Given the description of an element on the screen output the (x, y) to click on. 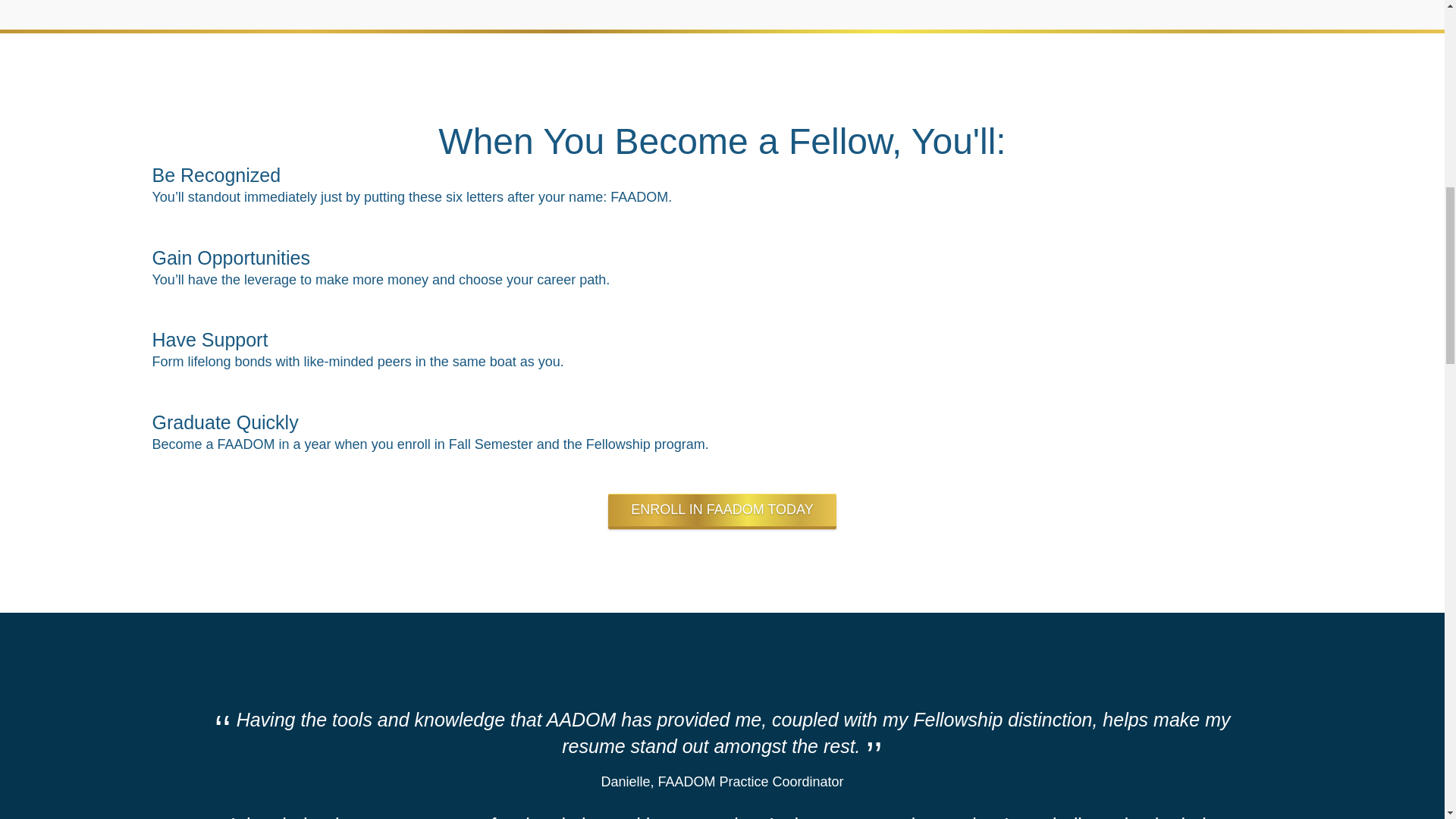
ENROLL IN FAADOM TODAY (721, 509)
